Given the description of an element on the screen output the (x, y) to click on. 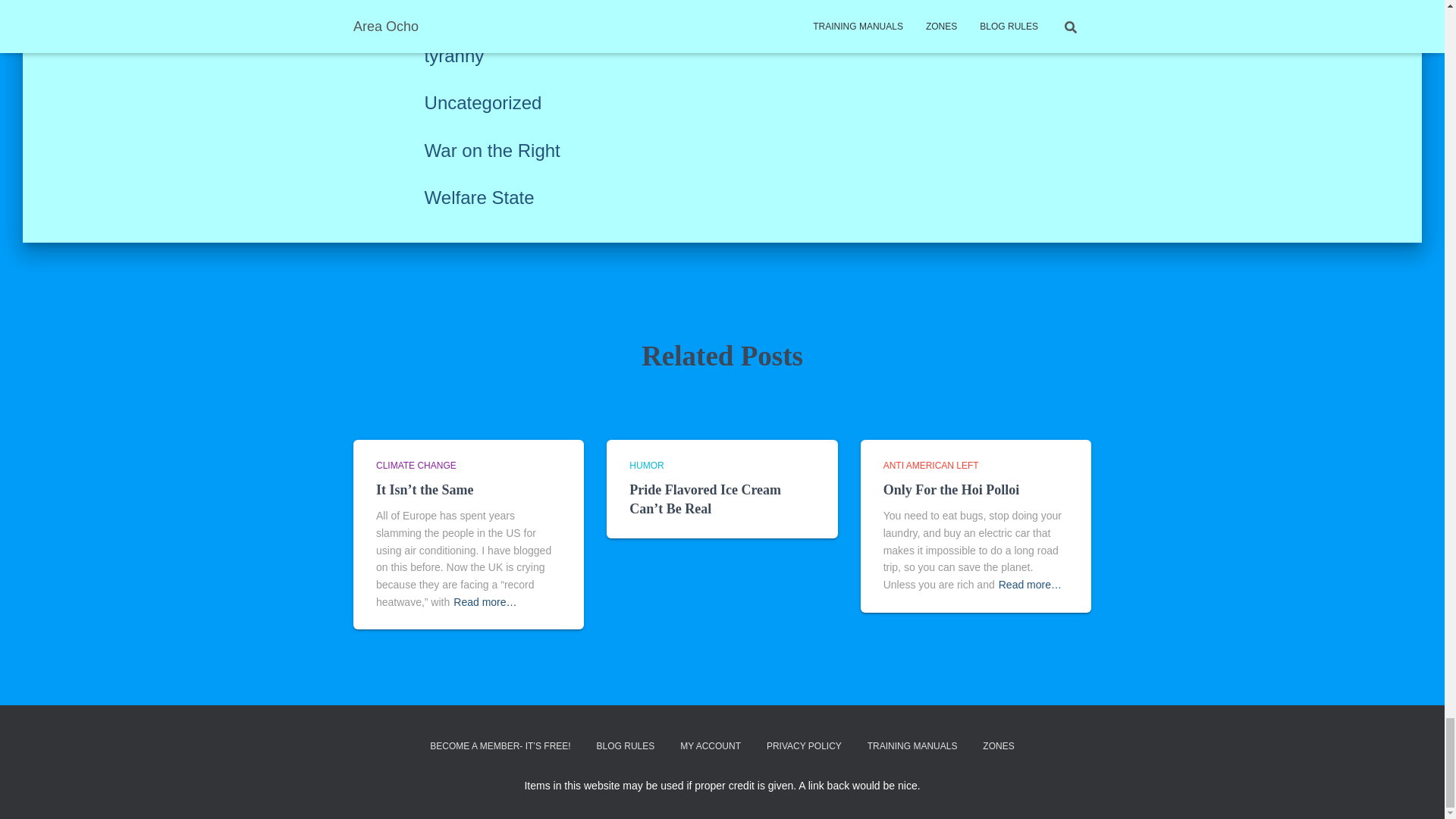
View all posts in Humor (645, 465)
Only For the Hoi Polloi (951, 489)
View all posts in Anti American left (930, 465)
View all posts in climate change (416, 465)
